Given the description of an element on the screen output the (x, y) to click on. 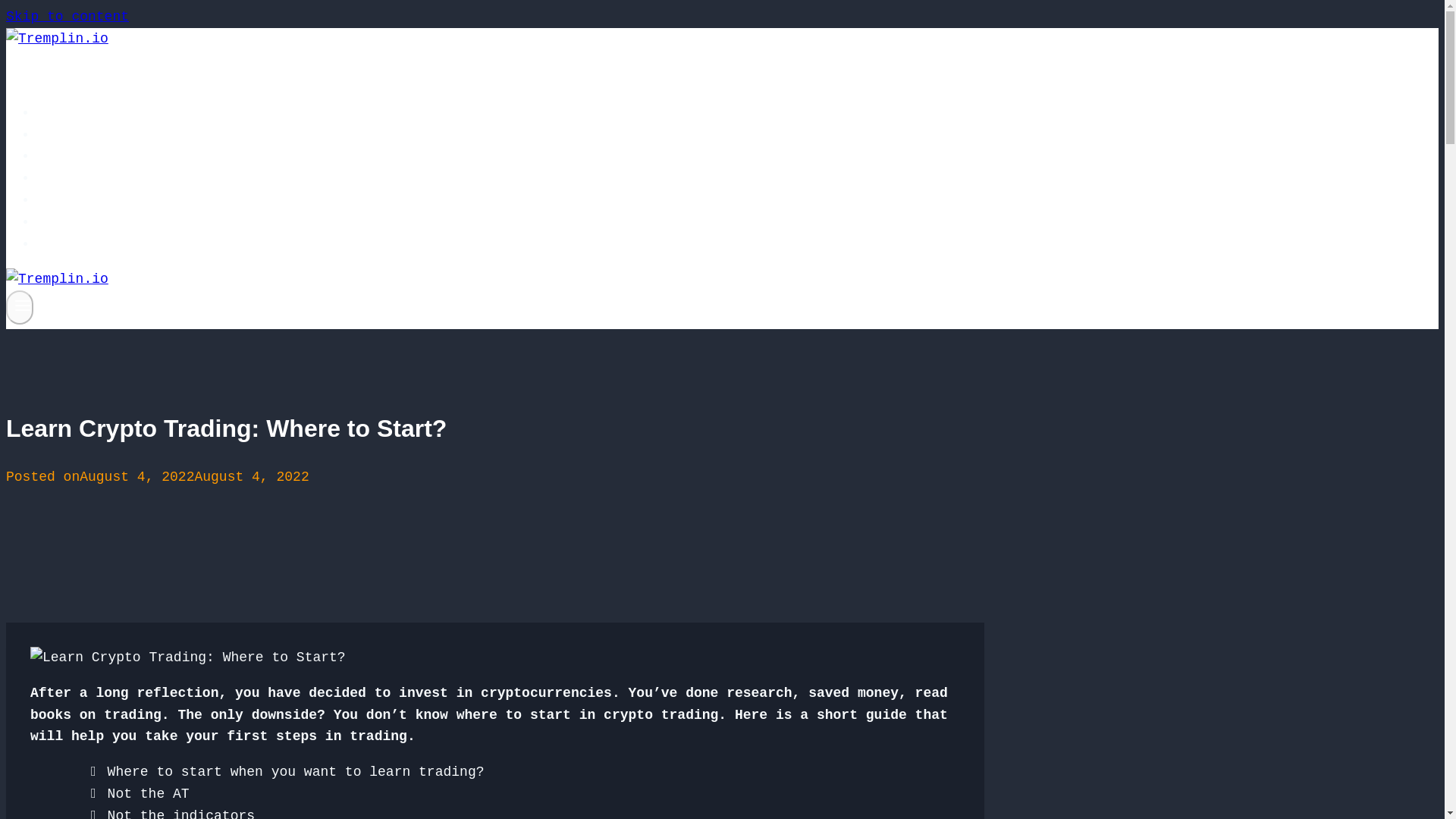
News (66, 222)
Consulting (90, 200)
Toggle Menu (22, 305)
Who are we? (95, 156)
Services (82, 134)
Tremplin.io (95, 112)
Skip to content (67, 16)
Contact (78, 244)
FAQ (61, 178)
